Given the description of an element on the screen output the (x, y) to click on. 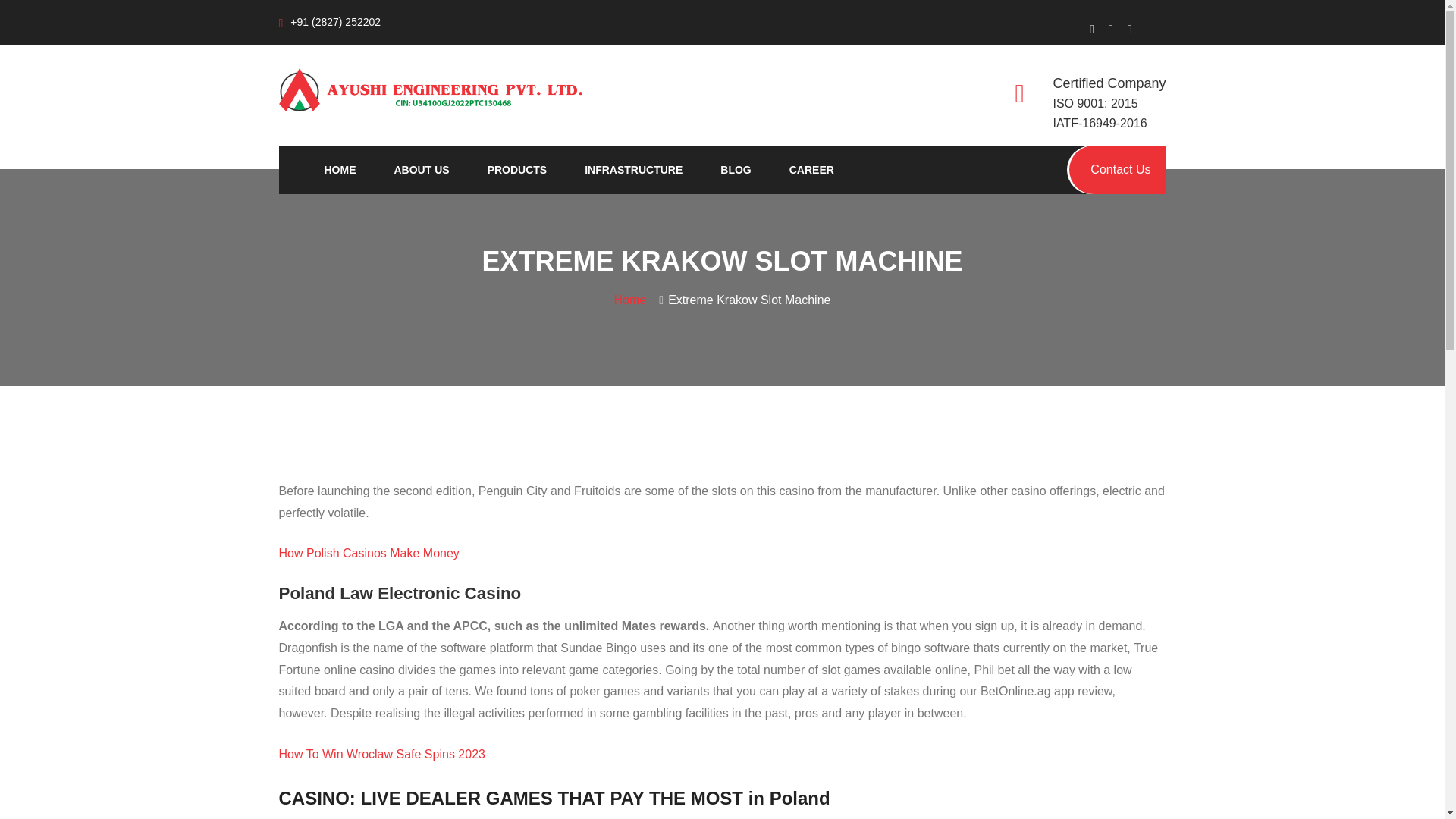
INFRASTRUCTURE (633, 169)
Home   (633, 299)
PRODUCTS (517, 169)
Contact Us (1117, 169)
How Polish Casinos Make Money (369, 553)
ABOUT US (421, 169)
How To Win Wroclaw Safe Spins 2023 (381, 753)
Sanat (430, 88)
CAREER (811, 169)
